Given the description of an element on the screen output the (x, y) to click on. 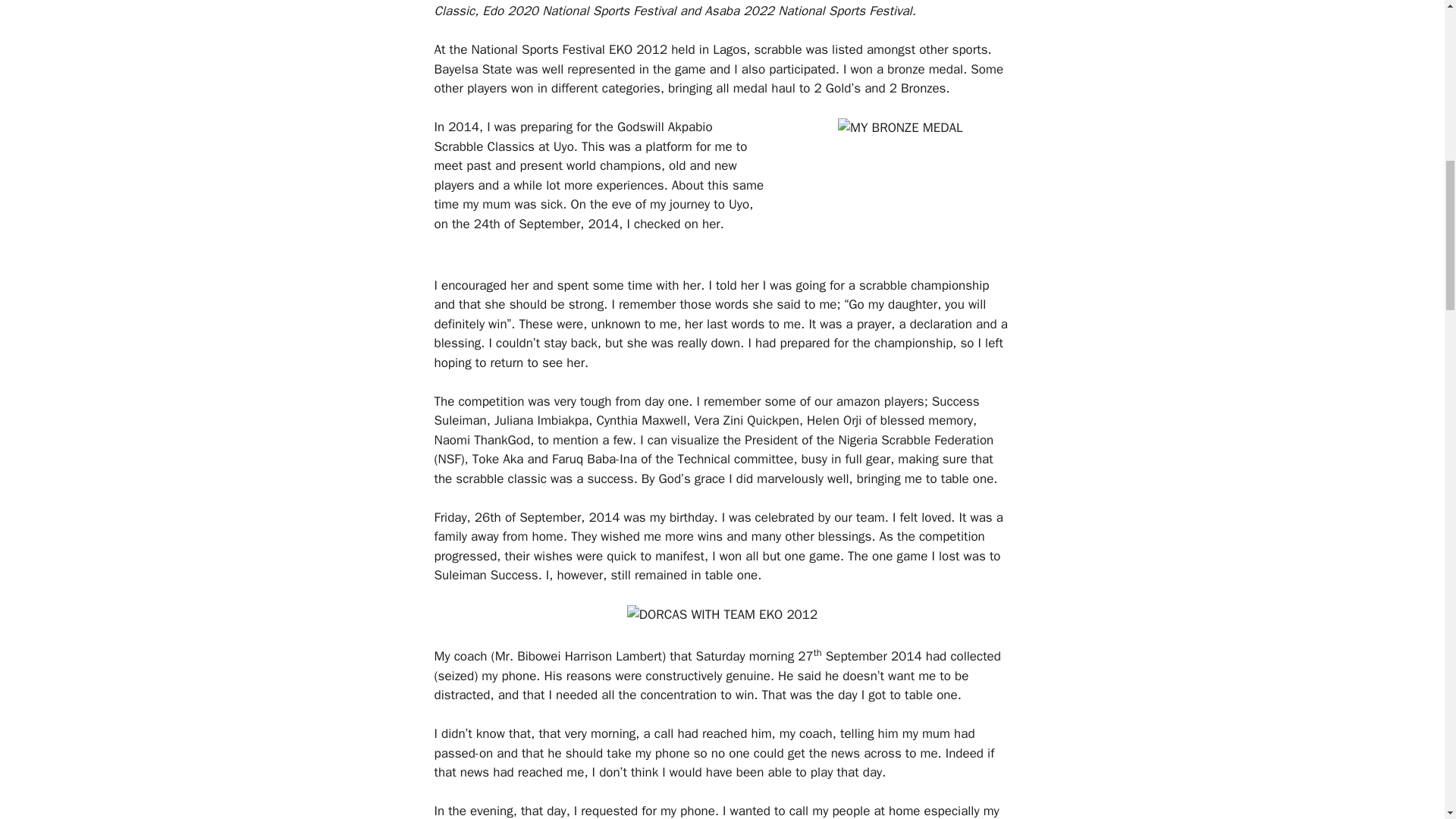
MY BRONZE MEDAL (900, 127)
DORCAS WITH TEAM EKO 2012 (721, 614)
